Given the description of an element on the screen output the (x, y) to click on. 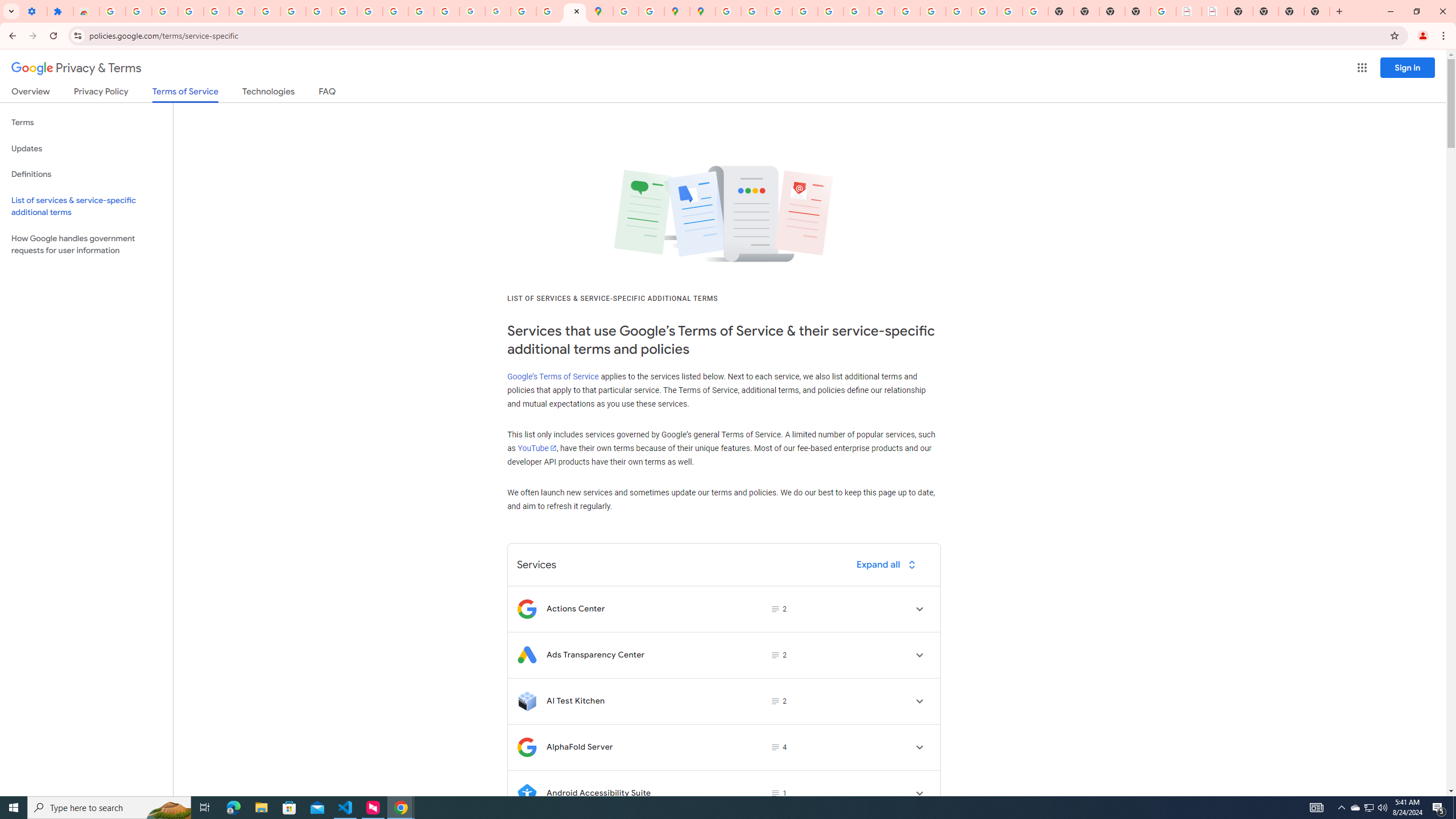
Logo for AlphaFold Server (526, 746)
Privacy Help Center - Policies Help (804, 11)
New Tab (1137, 11)
Logo for Ads Transparency Center (526, 654)
Google Images (1034, 11)
